Given the description of an element on the screen output the (x, y) to click on. 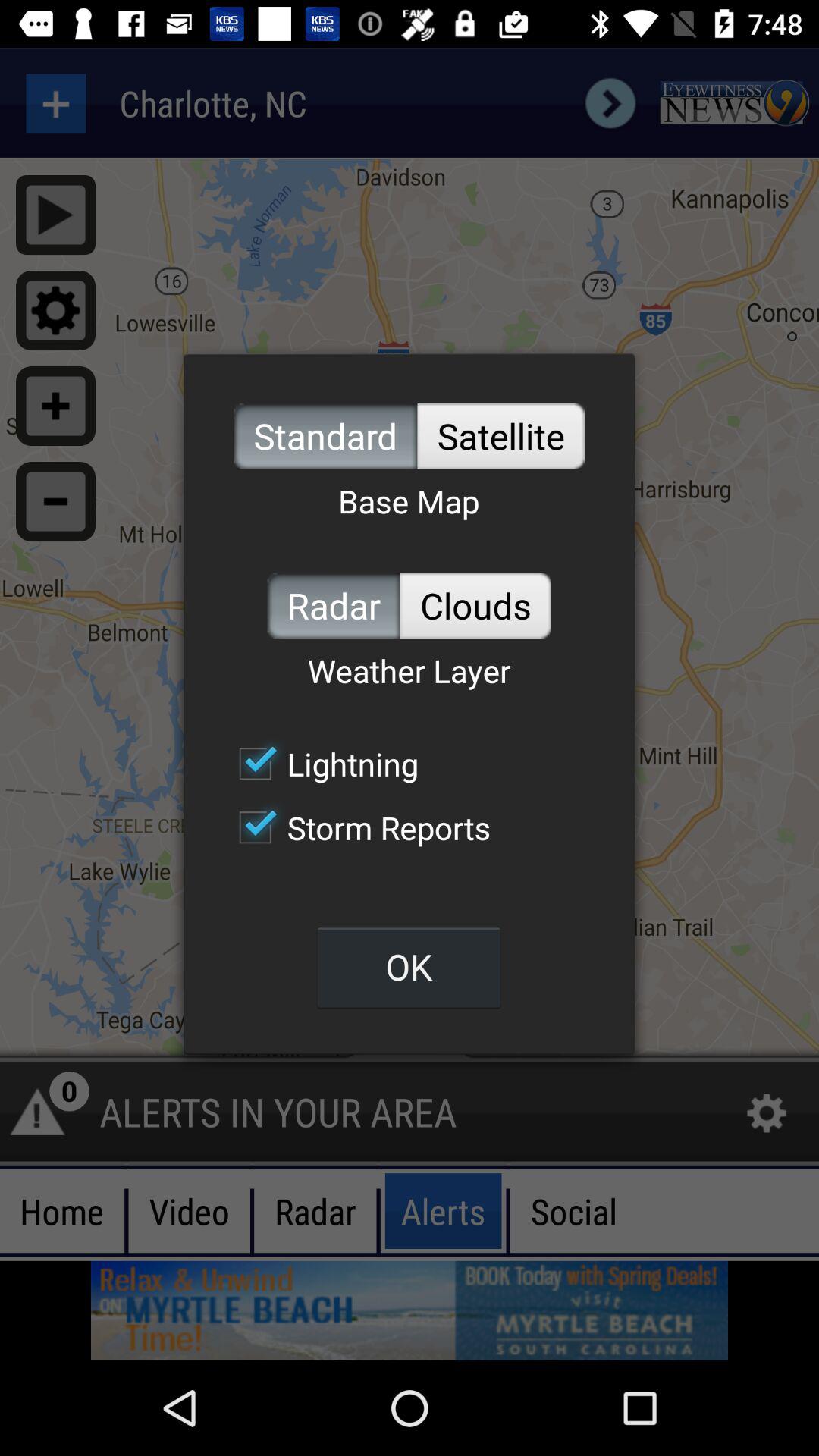
open item below the base map item (333, 605)
